Given the description of an element on the screen output the (x, y) to click on. 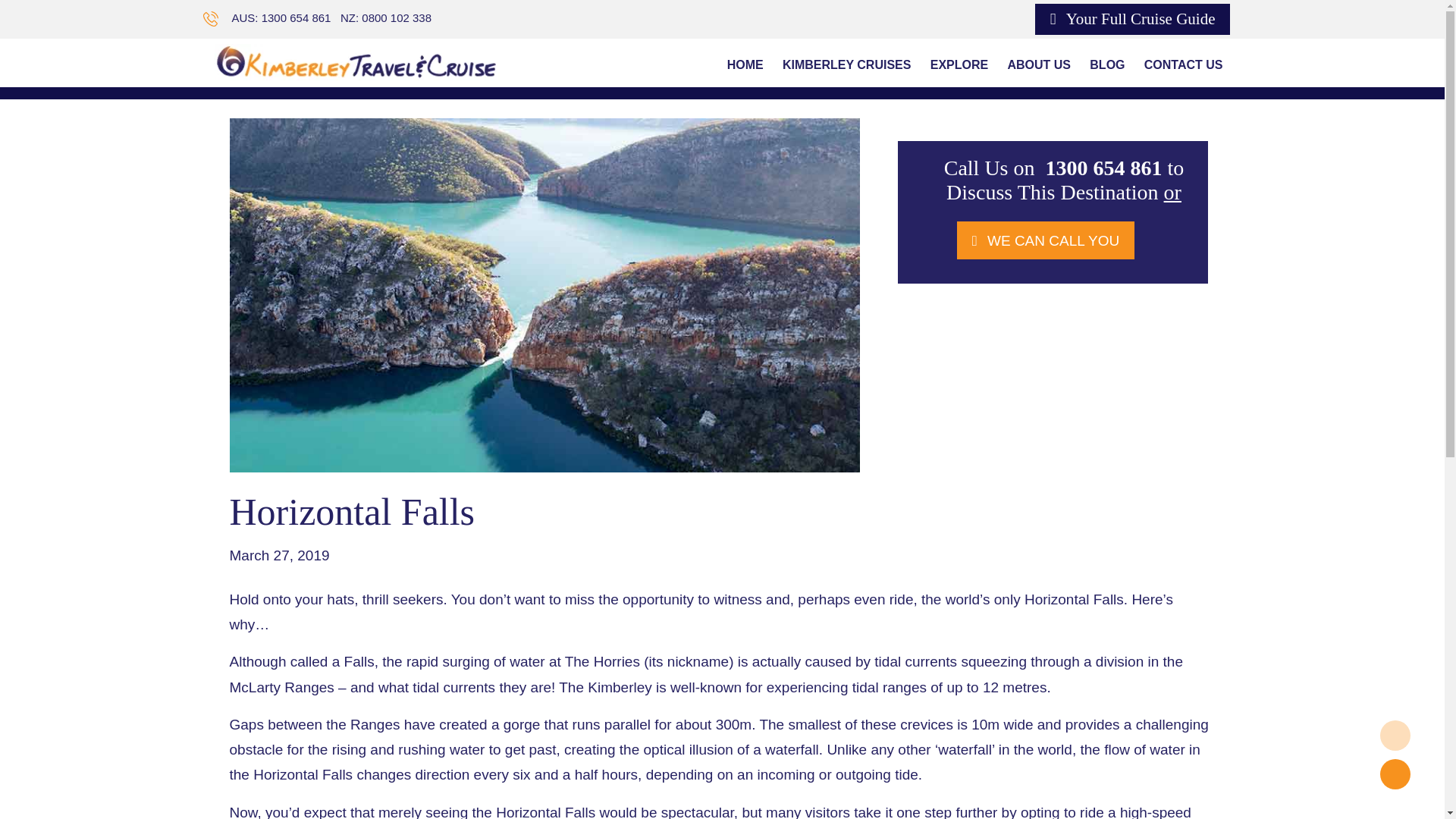
BLOG (1106, 64)
HOME (745, 64)
1300 654 861 (296, 17)
0800 102 338 (395, 17)
Your Full Cruise Guide (1132, 19)
WE CAN CALL YOU (1045, 240)
CONTACT US (1183, 64)
EXPLORE (959, 64)
1300 654 861 (1101, 167)
ABOUT US (1038, 64)
KIMBERLEY CRUISES (846, 64)
